Given the description of an element on the screen output the (x, y) to click on. 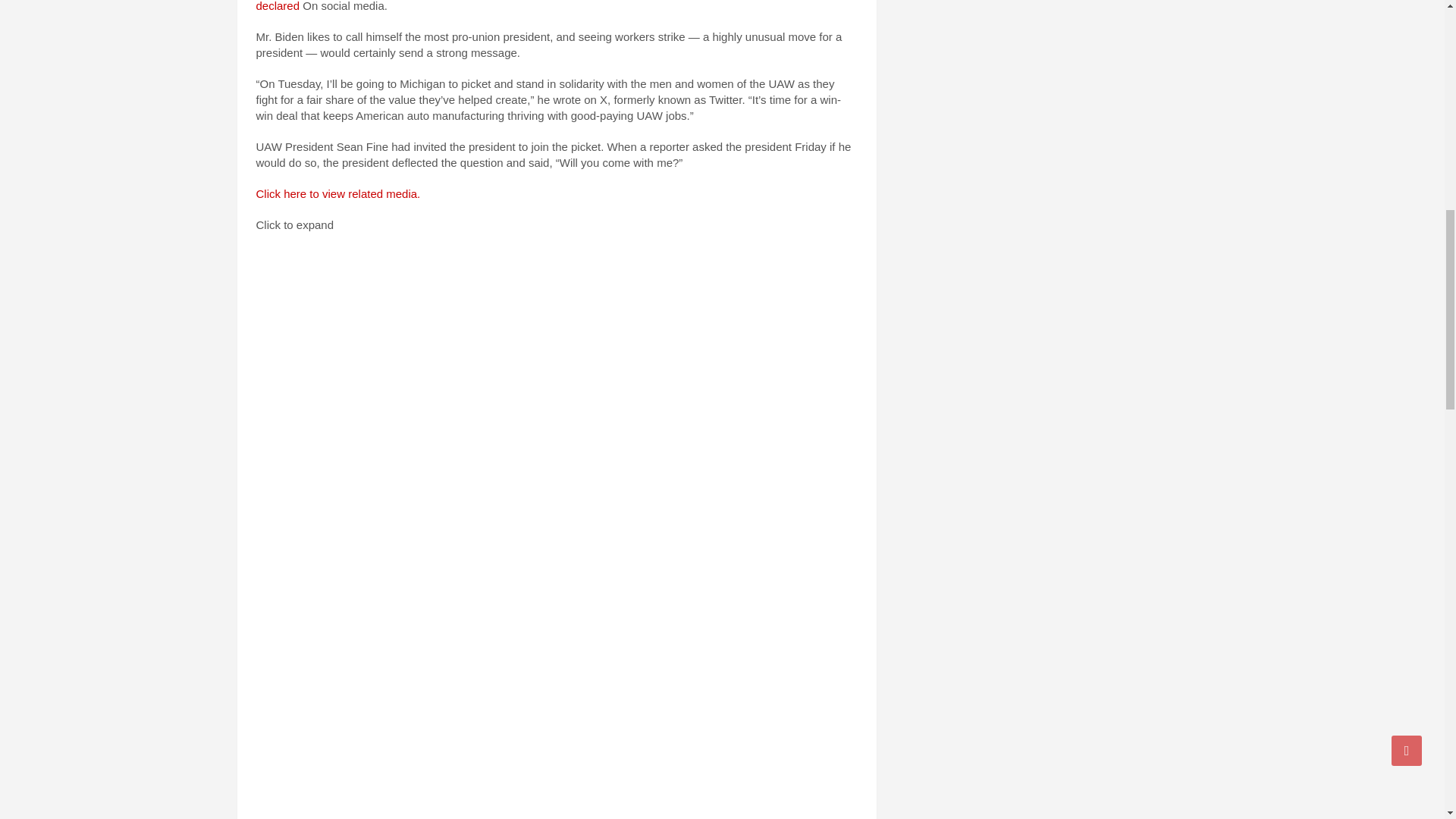
declared (277, 6)
Click here to view related media. (338, 193)
